Given the description of an element on the screen output the (x, y) to click on. 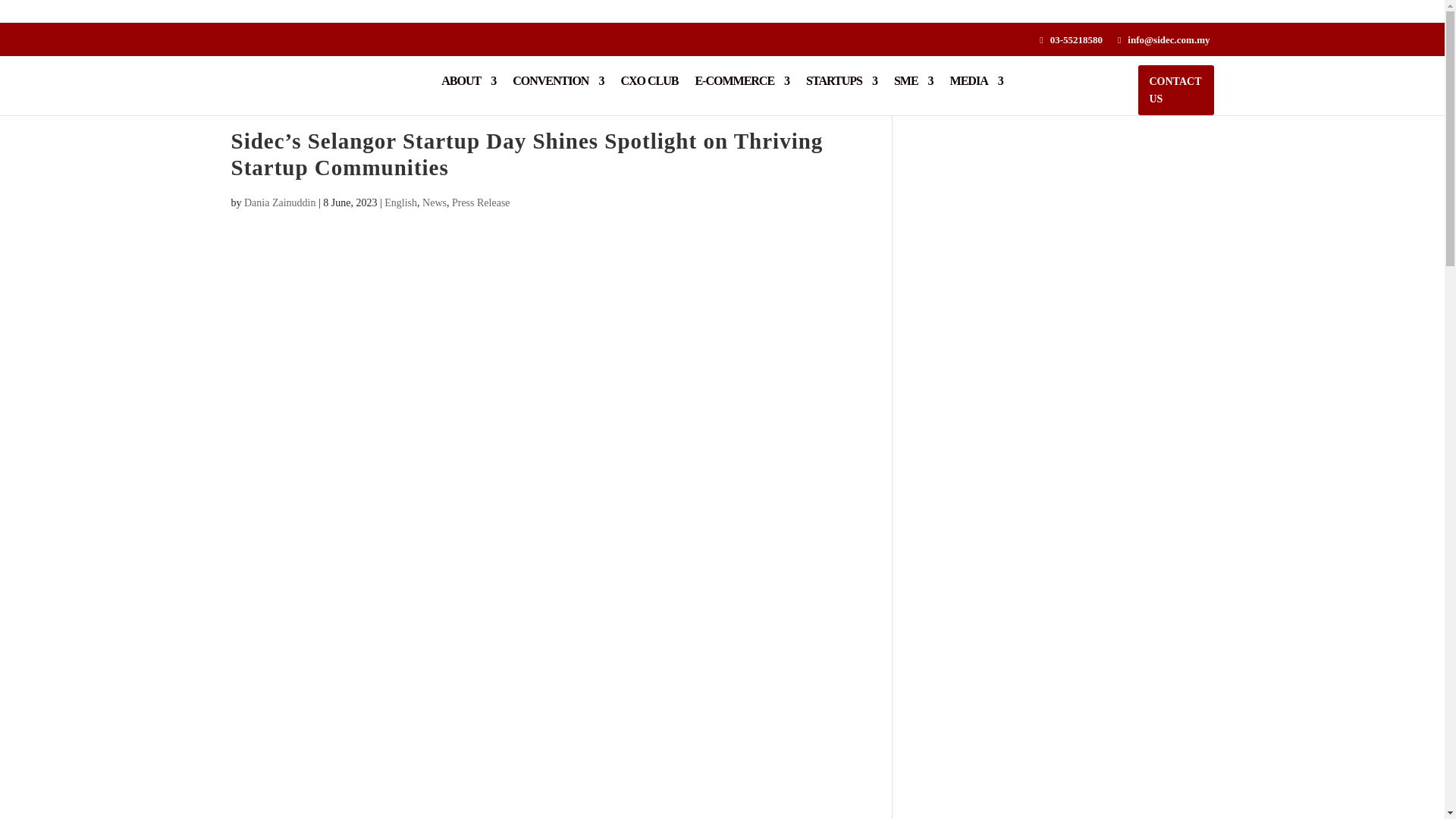
STARTUPS (841, 90)
ABOUT (468, 90)
SME (913, 90)
CXO CLUB (649, 90)
03-55218580 (1075, 39)
CONVENTION (558, 90)
MEDIA (976, 90)
Posts by Dania Zainuddin (279, 202)
E-COMMERCE (741, 90)
